Given the description of an element on the screen output the (x, y) to click on. 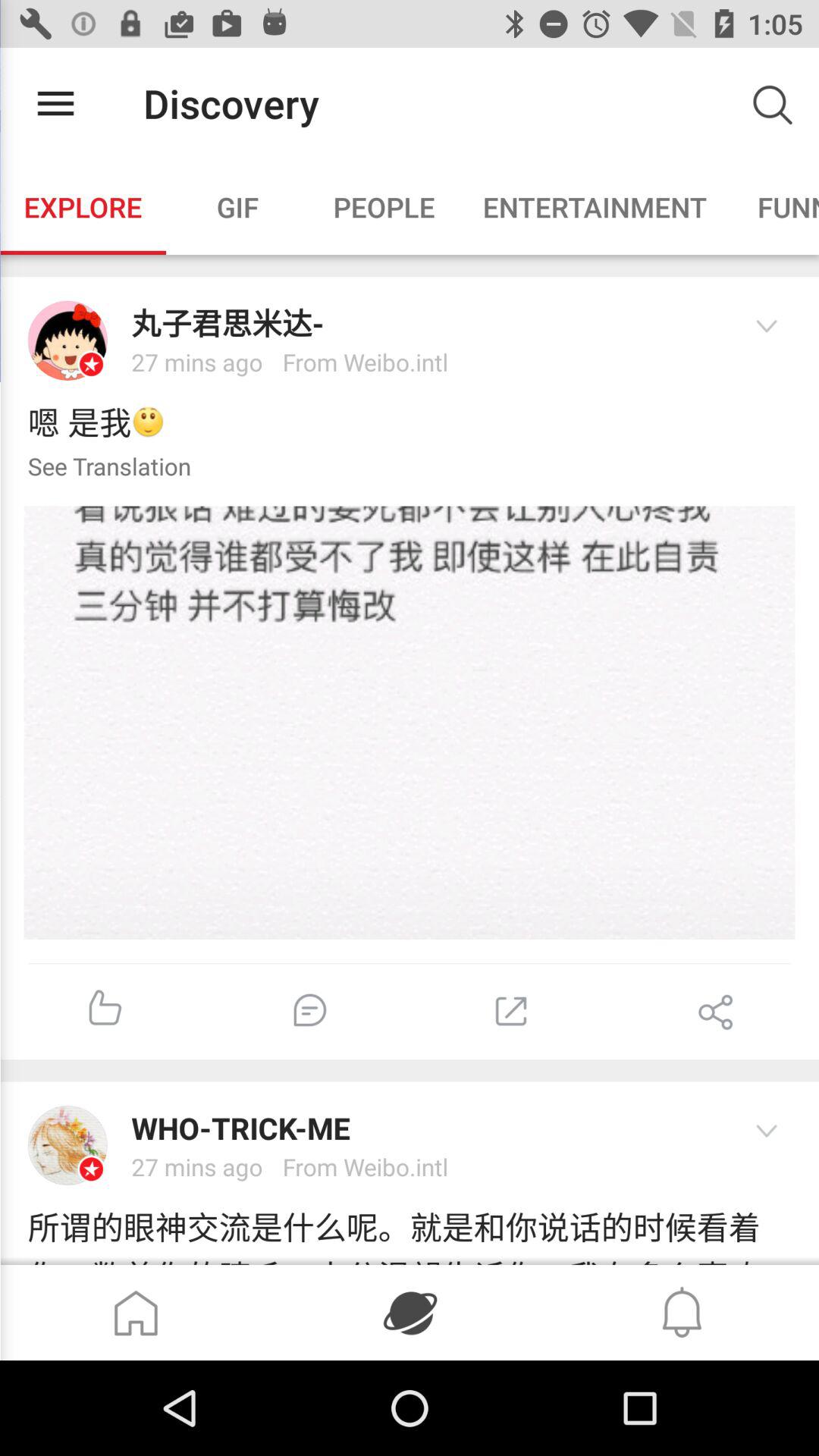
turn off icon above 27 mins ago icon (424, 1127)
